Given the description of an element on the screen output the (x, y) to click on. 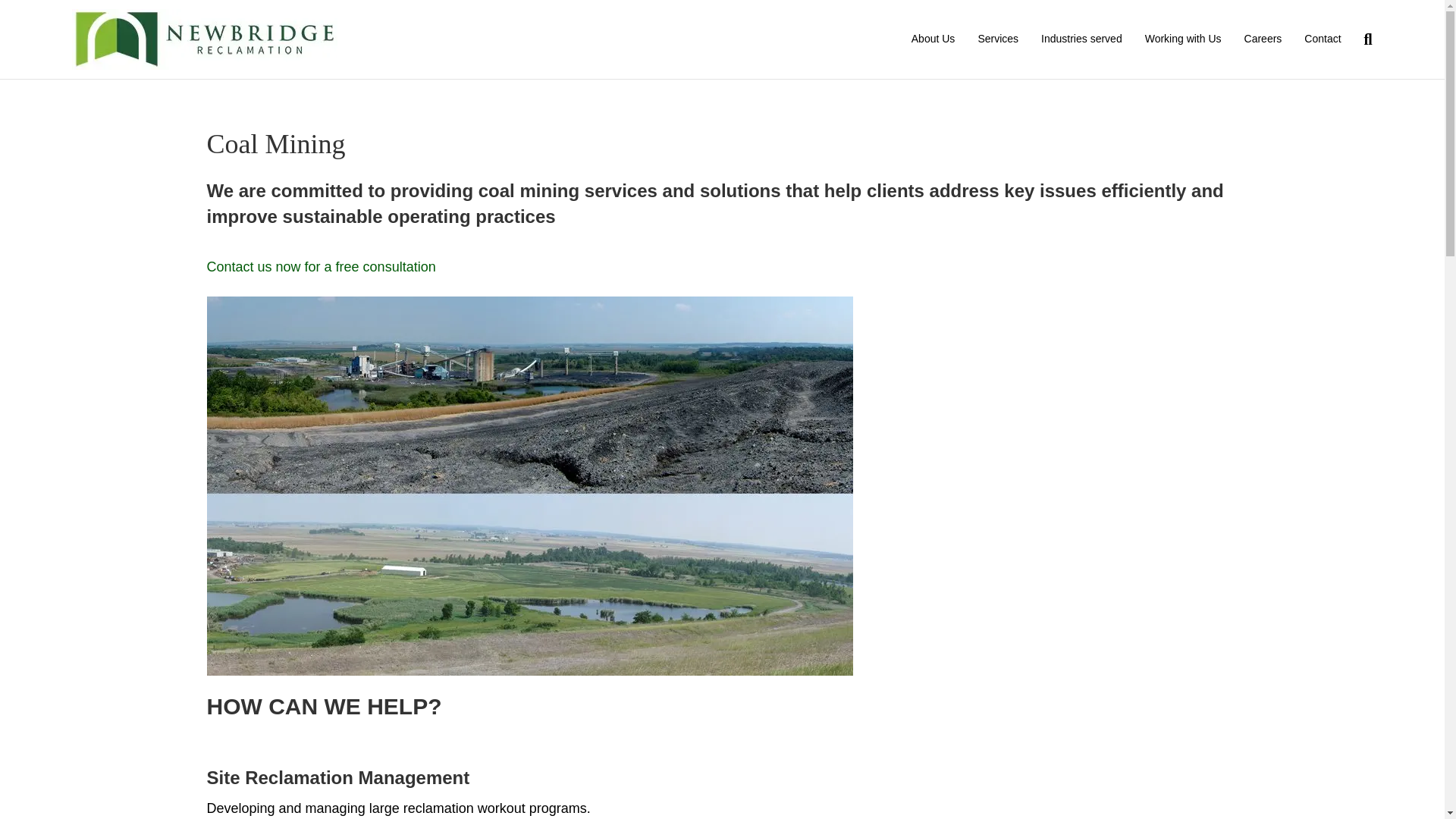
Working with Us (1183, 39)
Industries served (1081, 39)
Contact (1322, 39)
Careers (1263, 39)
Contact us now for a free consultation (320, 276)
About Us (932, 39)
Services (997, 39)
